Given the description of an element on the screen output the (x, y) to click on. 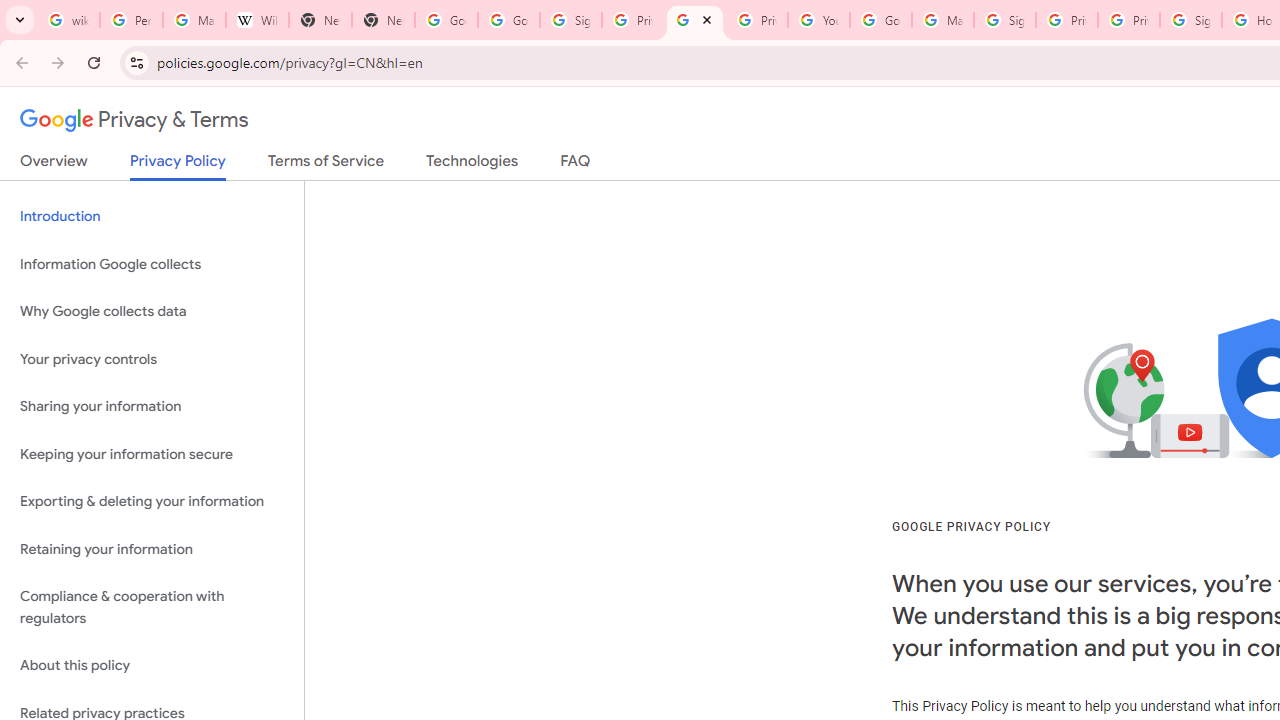
Wikipedia:Edit requests - Wikipedia (257, 20)
New Tab (383, 20)
Sign in - Google Accounts (1004, 20)
Google Drive: Sign-in (508, 20)
Personalization & Google Search results - Google Search Help (130, 20)
